Given the description of an element on the screen output the (x, y) to click on. 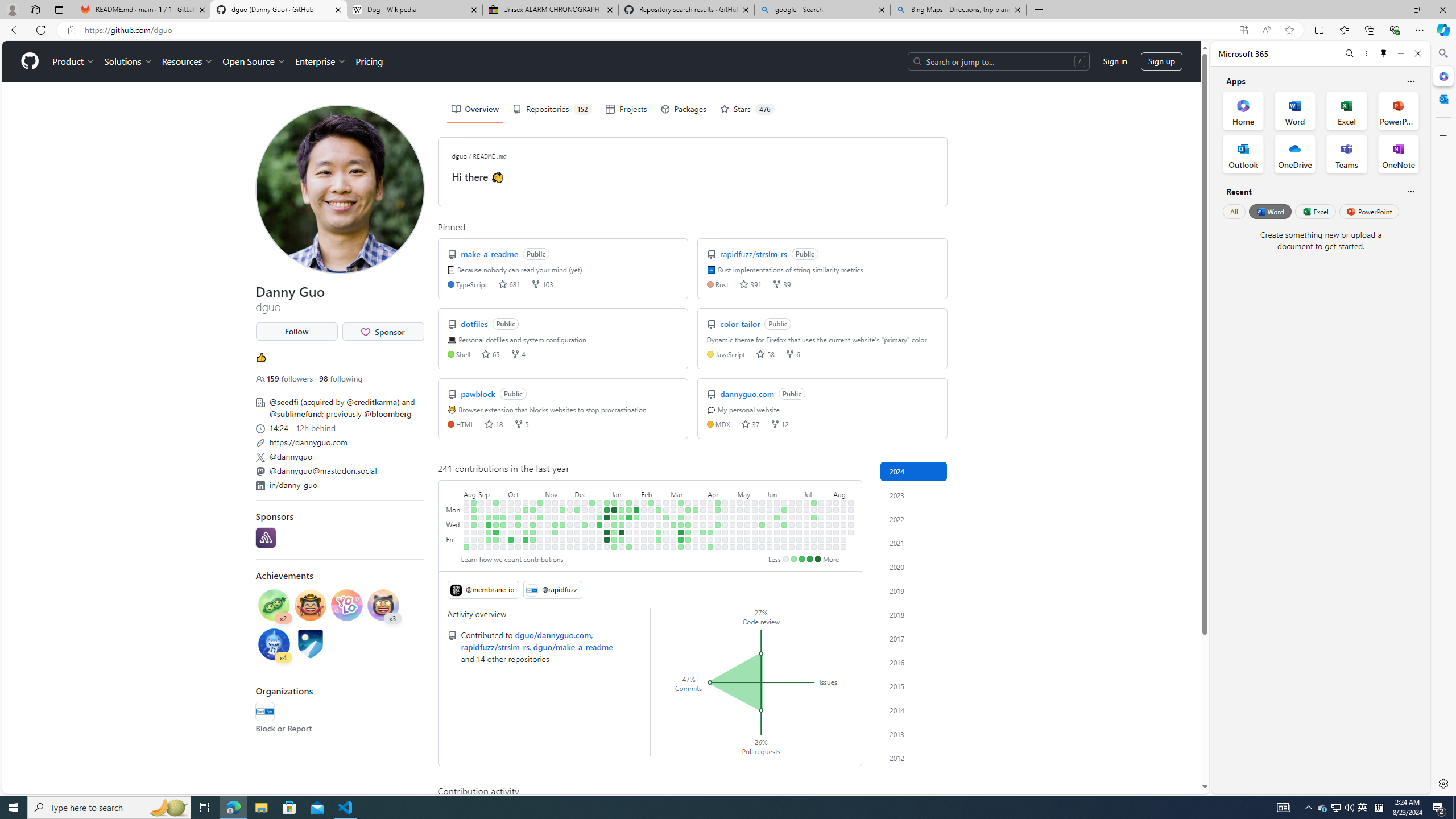
2014 (913, 709)
Pricing (368, 60)
No contributions on June 27th. (791, 531)
stars 37 (750, 423)
1 contribution on October 29th. (540, 502)
9 contributions on January 29th. (636, 509)
dguo/make-a-readme (572, 646)
1 contribution on January 9th. (614, 517)
2 contributions on October 27th. (532, 539)
No contributions on July 9th. (806, 517)
No contributions on October 1st. (510, 502)
No contributions on July 13th. (806, 546)
Mastodon (259, 470)
 @rapidfuzz (552, 588)
November (558, 492)
